Given the description of an element on the screen output the (x, y) to click on. 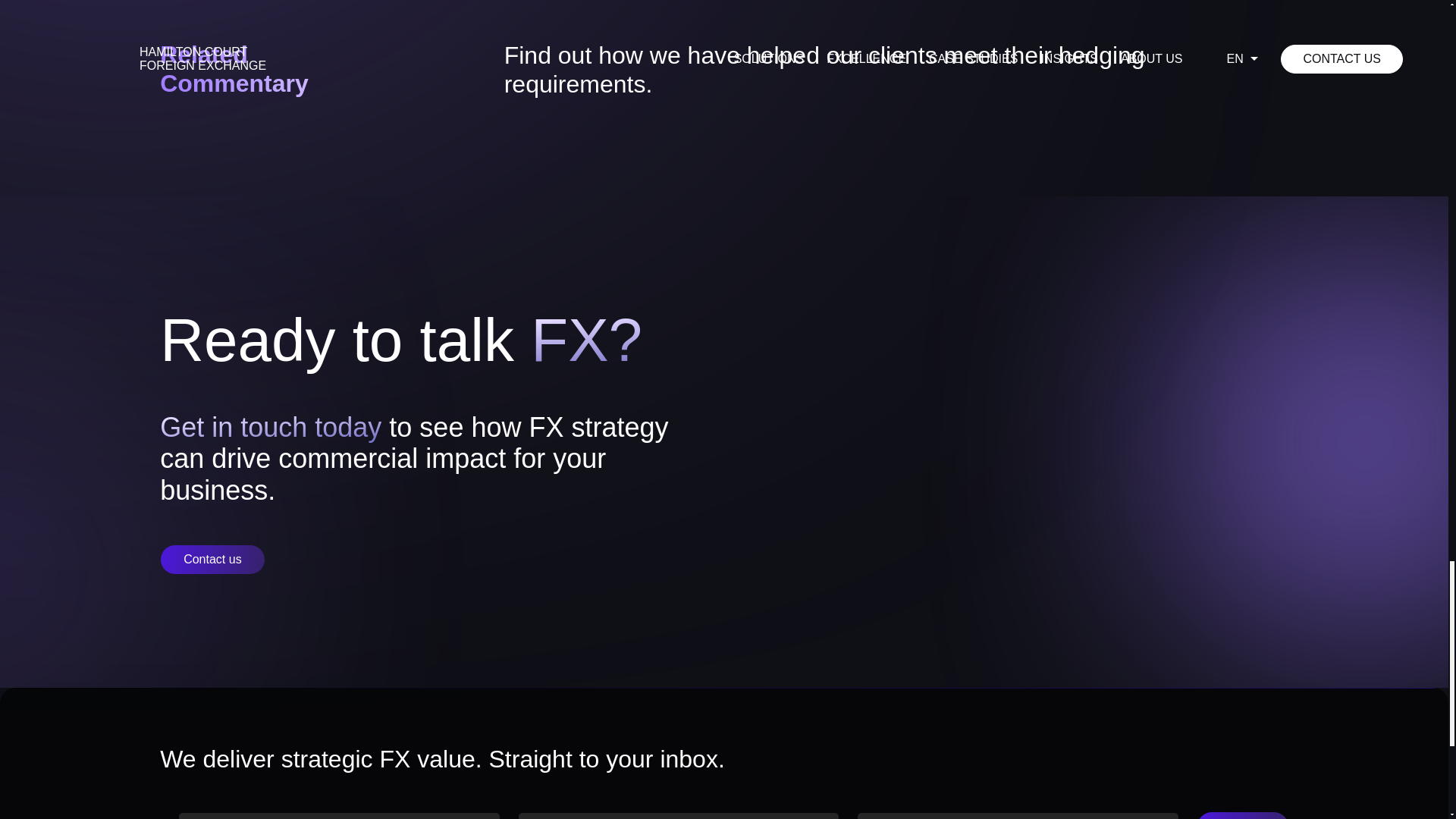
Submit (1242, 815)
Submit (323, 68)
Contact us (724, 758)
Contact us (212, 559)
Ready to talk FX? (212, 559)
